Given the description of an element on the screen output the (x, y) to click on. 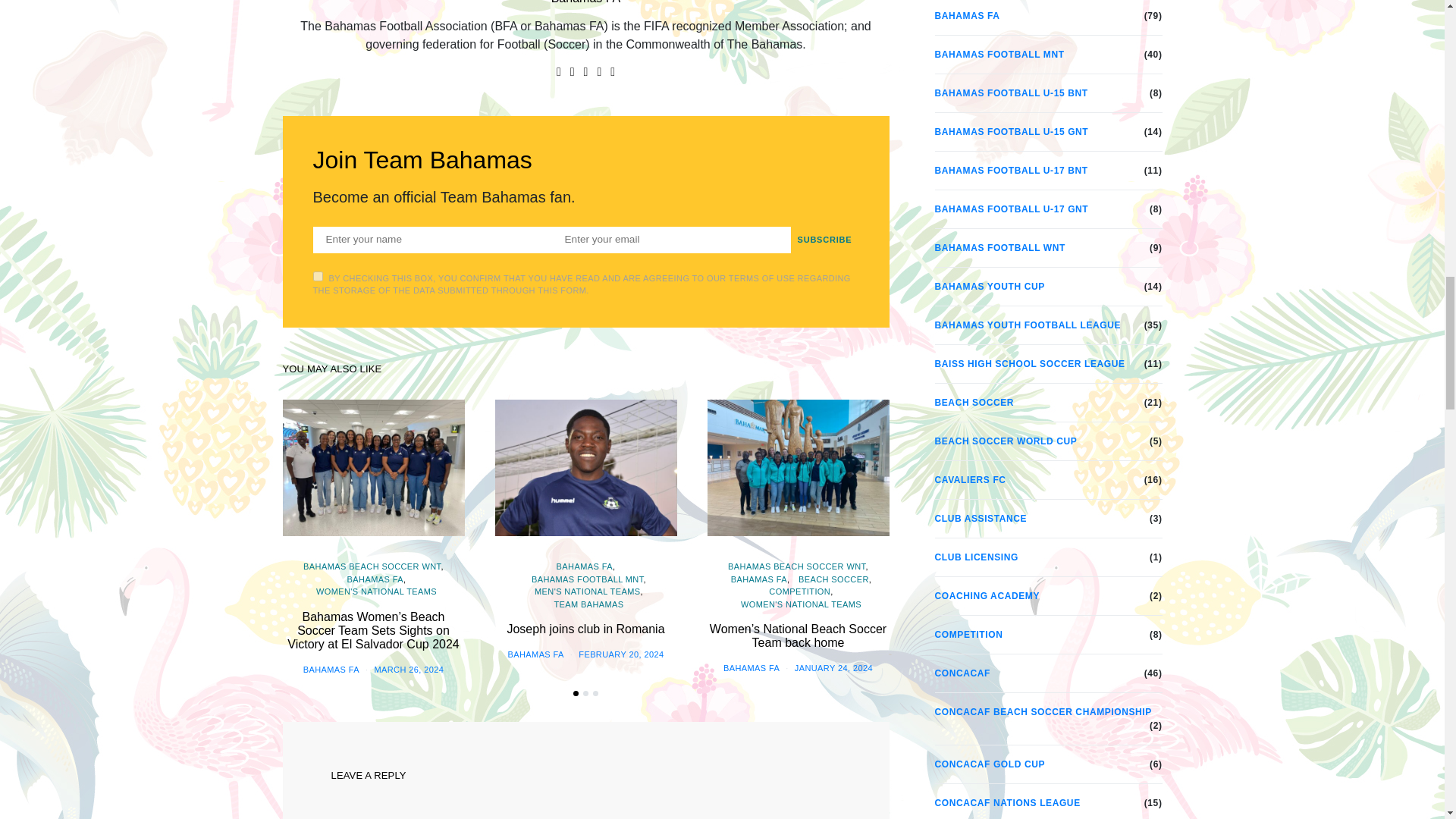
View all posts by Bahamas FA (750, 667)
View all posts by Bahamas FA (536, 654)
View all posts by Bahamas FA (330, 669)
on (317, 276)
